Given the description of an element on the screen output the (x, y) to click on. 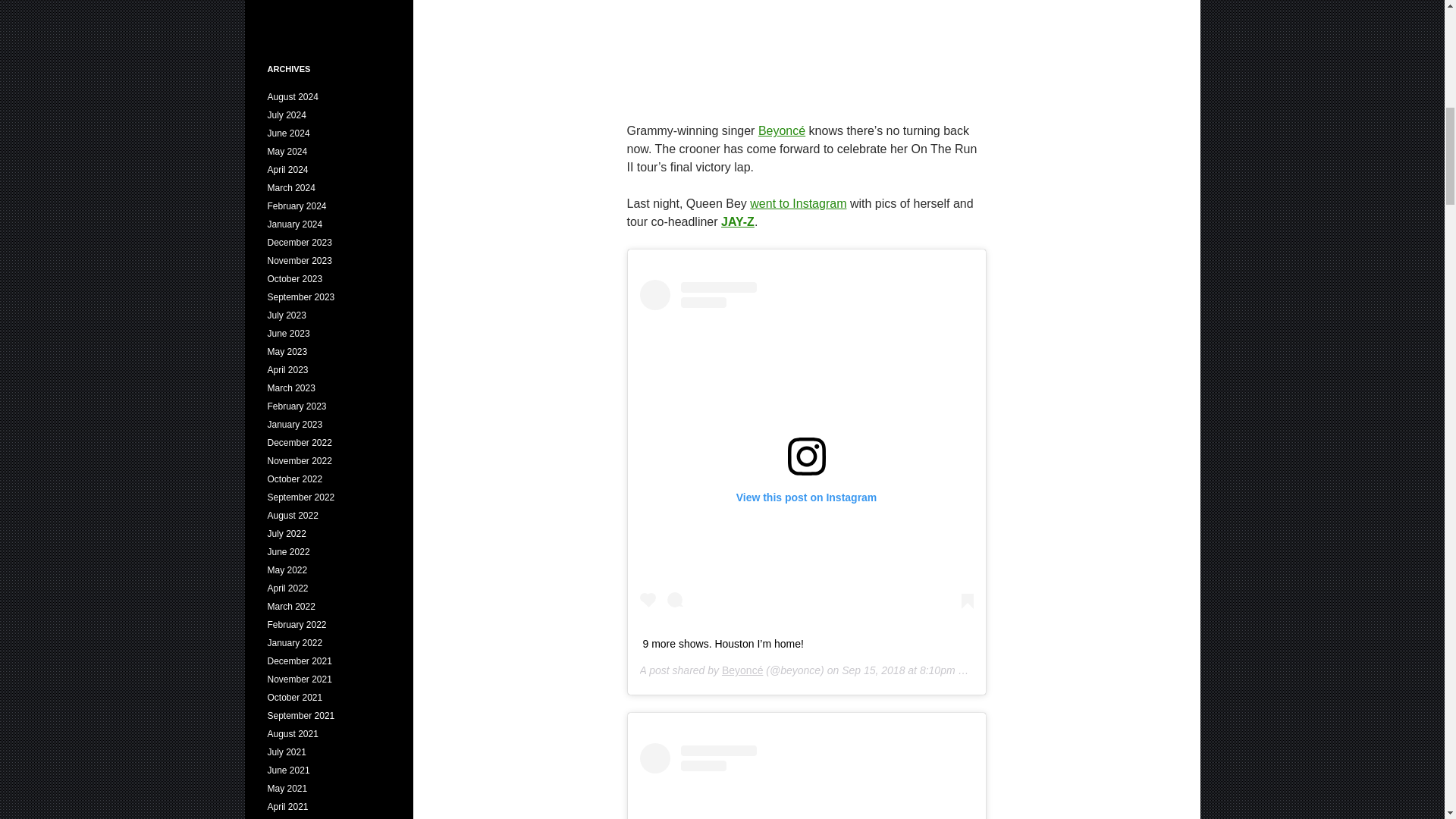
JAY-Z (737, 221)
View this post on Instagram (807, 780)
went to Instagram (797, 203)
Jay Z (737, 221)
View this post on Instagram (807, 447)
